Given the description of an element on the screen output the (x, y) to click on. 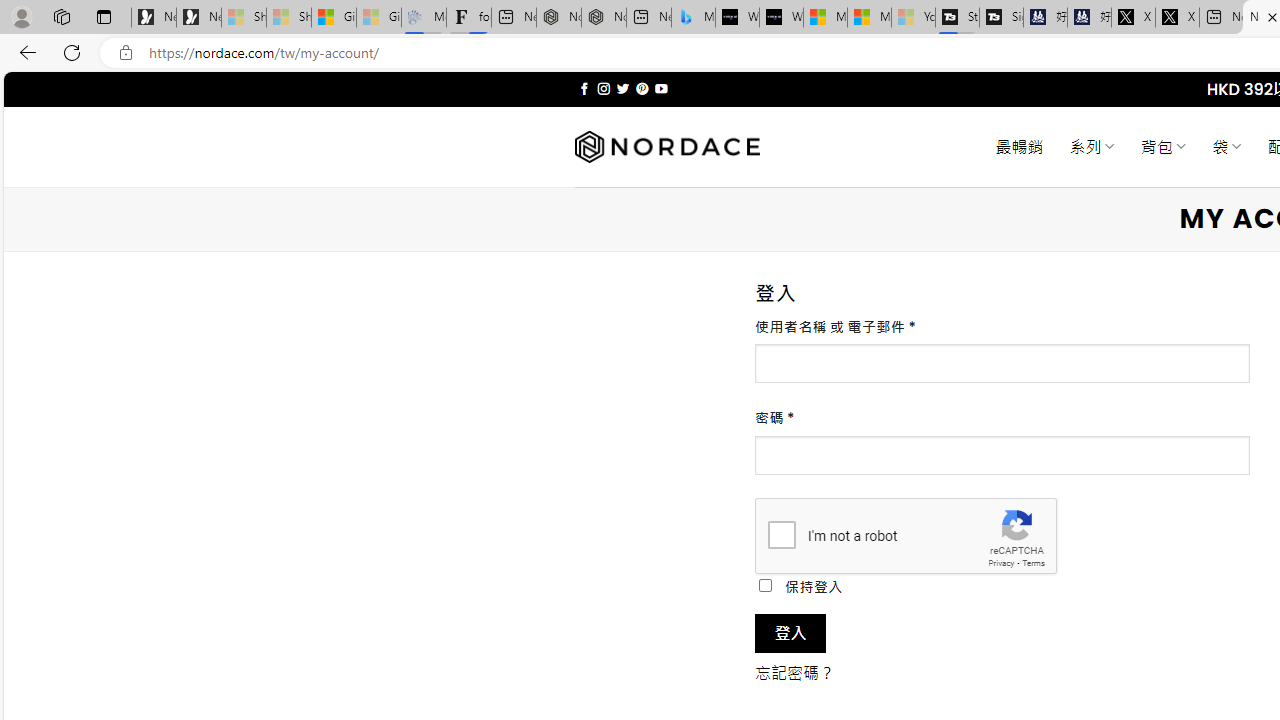
Nordace - #1 Japanese Best-Seller - Siena Smart Backpack (603, 17)
Follow on Pinterest (642, 88)
Microsoft Bing Travel - Shangri-La Hotel Bangkok (693, 17)
Microsoft Start Sports (825, 17)
X (1177, 17)
Newsletter Sign Up (198, 17)
